Given the description of an element on the screen output the (x, y) to click on. 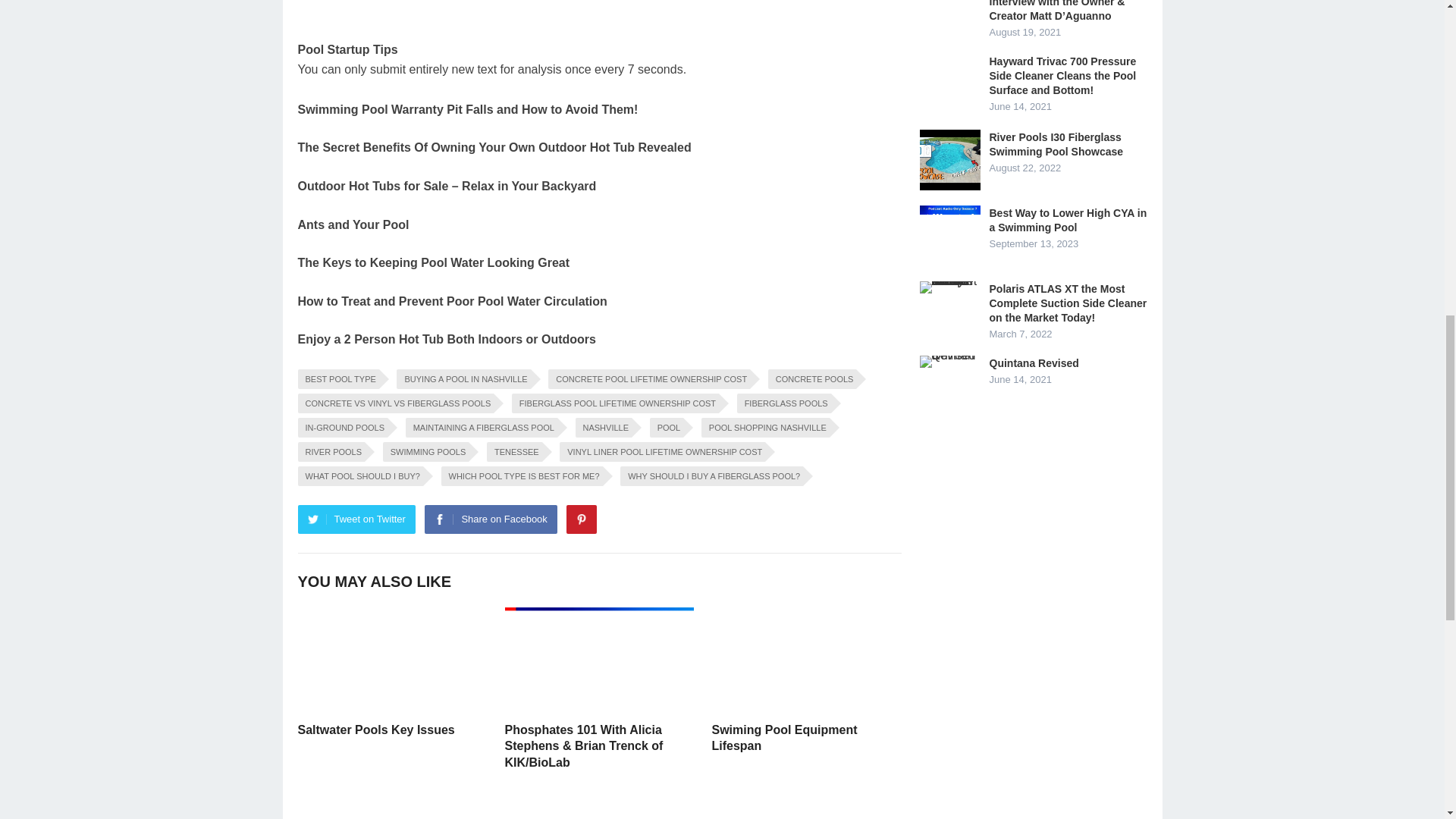
NASHVILLE (603, 427)
RIVER POOLS (331, 451)
FIBERGLASS POOL LIFETIME OWNERSHIP COST (615, 403)
River Pools I30 Fiberglass Swimming Pool Showcase 19 (948, 159)
BUYING A POOL IN NASHVILLE (462, 379)
Best Way to Lower High CYA in a Swimming Pool 20 (948, 235)
CONCRETE POOL LIFETIME OWNERSHIP COST (648, 379)
Swiming Pool Equipment Lifespan 6 (805, 659)
MAINTAINING A FIBERGLASS POOL (481, 427)
FIBERGLASS POOLS (783, 403)
POOL SHOPPING NASHVILLE (765, 427)
SWIMMING POOLS (425, 451)
BEST POOL TYPE (337, 379)
